Given the description of an element on the screen output the (x, y) to click on. 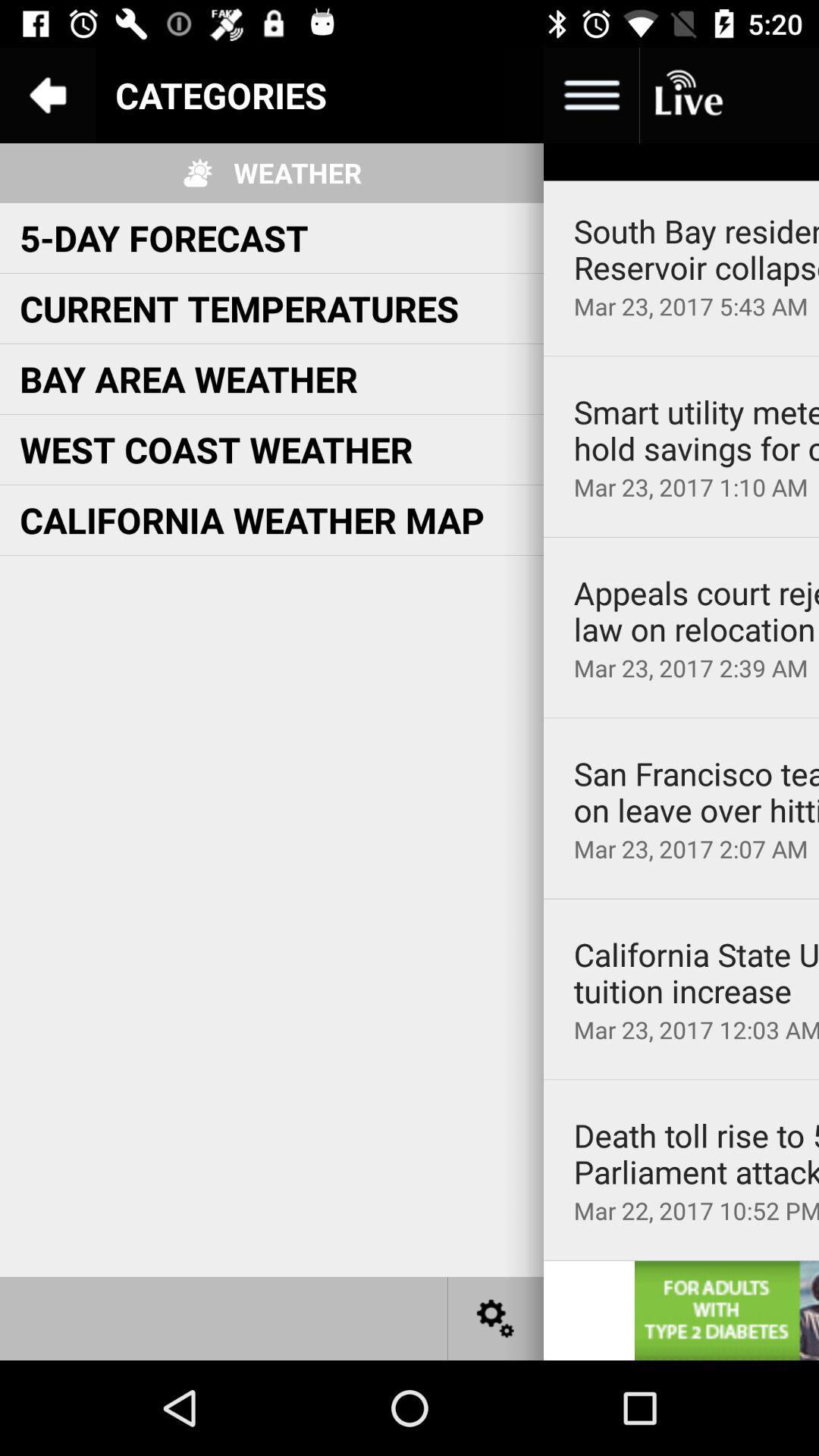
menu page (495, 95)
